Given the description of an element on the screen output the (x, y) to click on. 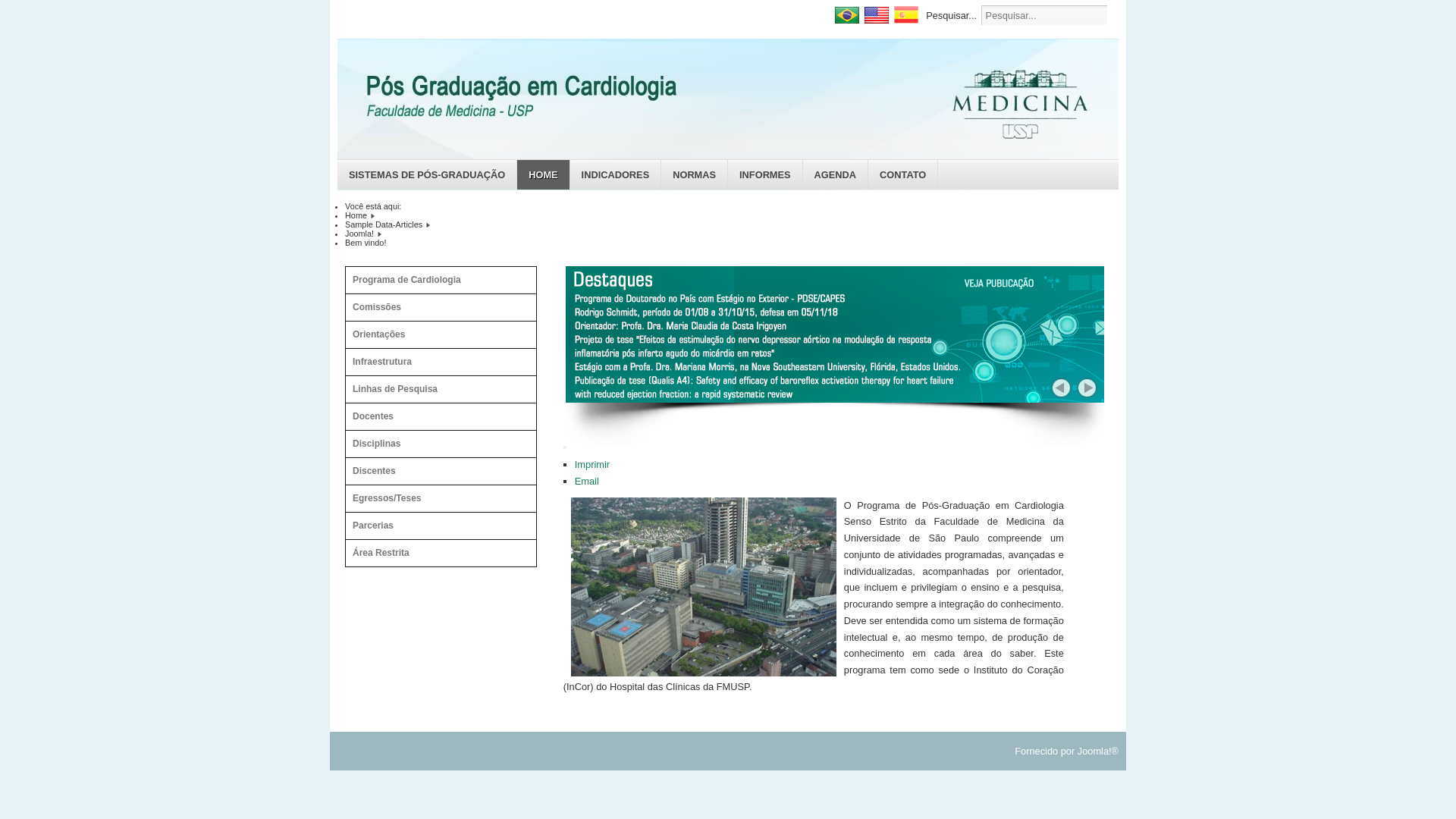
CONTATO Element type: text (903, 174)
Docentes Element type: text (432, 416)
NORMAS Element type: text (694, 174)
INDICADORES Element type: text (616, 174)
Discentes Element type: text (432, 470)
Programa de Cardiologia Element type: text (432, 279)
Linhas de Pesquisa Element type: text (432, 388)
Disciplinas Element type: text (432, 443)
Email Element type: text (586, 480)
Previous Element type: hover (1060, 388)
Parcerias Element type: text (432, 525)
Joomla! Element type: text (359, 233)
Imprimir Element type: text (591, 464)
Home Element type: text (356, 214)
Next Element type: hover (1087, 388)
INFORMES Element type: text (765, 174)
Sample Data-Articles Element type: text (383, 224)
image Element type: hover (834, 334)
HOME Element type: text (543, 174)
Egressos/Teses Element type: text (432, 498)
AGENDA Element type: text (835, 174)
Infraestrutura Element type: text (432, 361)
